Given the description of an element on the screen output the (x, y) to click on. 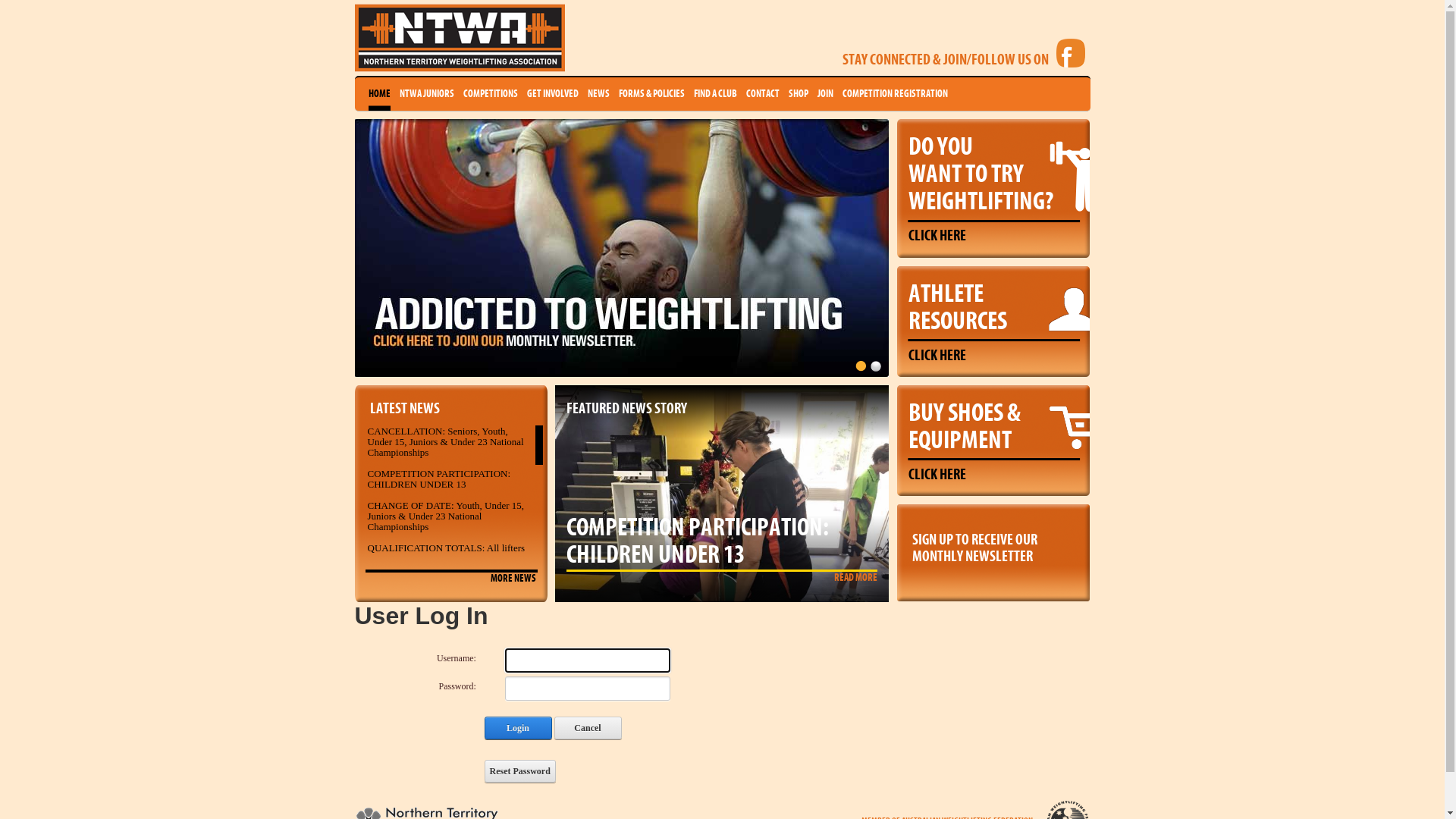
READ MORE Element type: text (855, 577)
CONTACT Element type: text (762, 93)
QUALIFICATION TOTALS: All lifters Element type: text (445, 547)
NTWA JUNIORS Element type: text (425, 93)
SIGN UP TO RECEIVE OUR MONTHLY NEWSLETTER Element type: text (992, 544)
MORE NEWS Element type: text (512, 578)
GET INVOLVED Element type: text (551, 93)
SHOP Element type: text (798, 93)
Cancel Element type: text (587, 727)
NTWA Competition July 2020 - RESULTS Element type: text (430, 574)
COMPETITIONS Element type: text (489, 93)
JOIN Element type: text (825, 93)
Reset Password Element type: text (519, 770)
FIND A CLUB Element type: text (714, 93)
CLICK HERE Element type: text (937, 474)
FORMS & POLICIES Element type: text (651, 93)
CLICK HERE Element type: text (937, 235)
COMPETITION REGISTRATION Element type: text (894, 93)
NEWS Element type: text (597, 93)
CLICK HERE Element type: text (937, 355)
HOME Element type: text (379, 93)
COMPETITION PARTICIPATION: CHILDREN UNDER 13 Element type: text (438, 478)
Login Element type: text (517, 727)
